Given the description of an element on the screen output the (x, y) to click on. 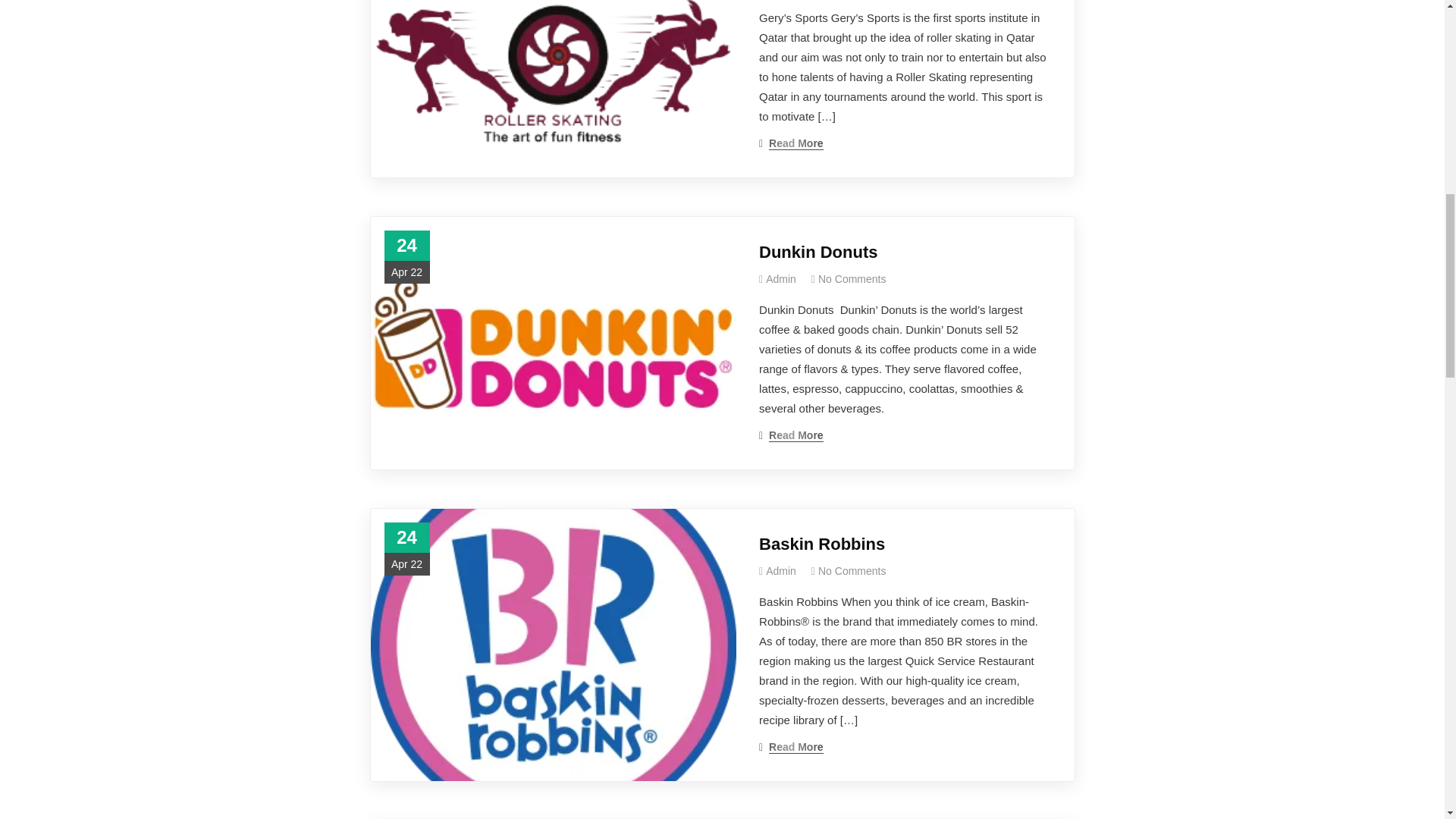
Posts by admin (780, 571)
Posts by admin (780, 278)
Dunkin Donuts (904, 251)
Read More (791, 435)
No Comments (851, 278)
Read More (791, 143)
Baskin Robbins (904, 543)
Admin (780, 278)
